Given the description of an element on the screen output the (x, y) to click on. 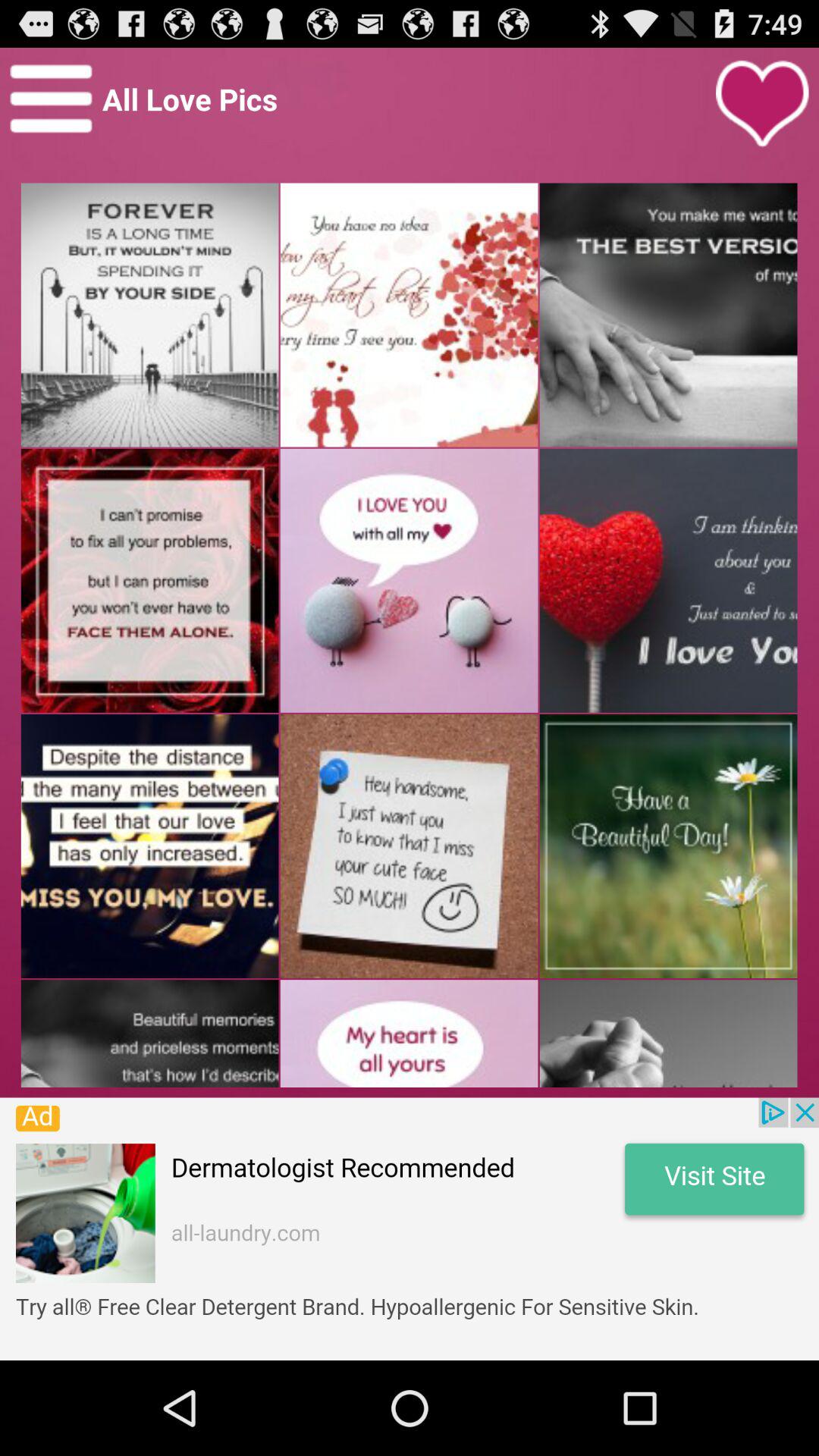
add to favorites (762, 104)
